Given the description of an element on the screen output the (x, y) to click on. 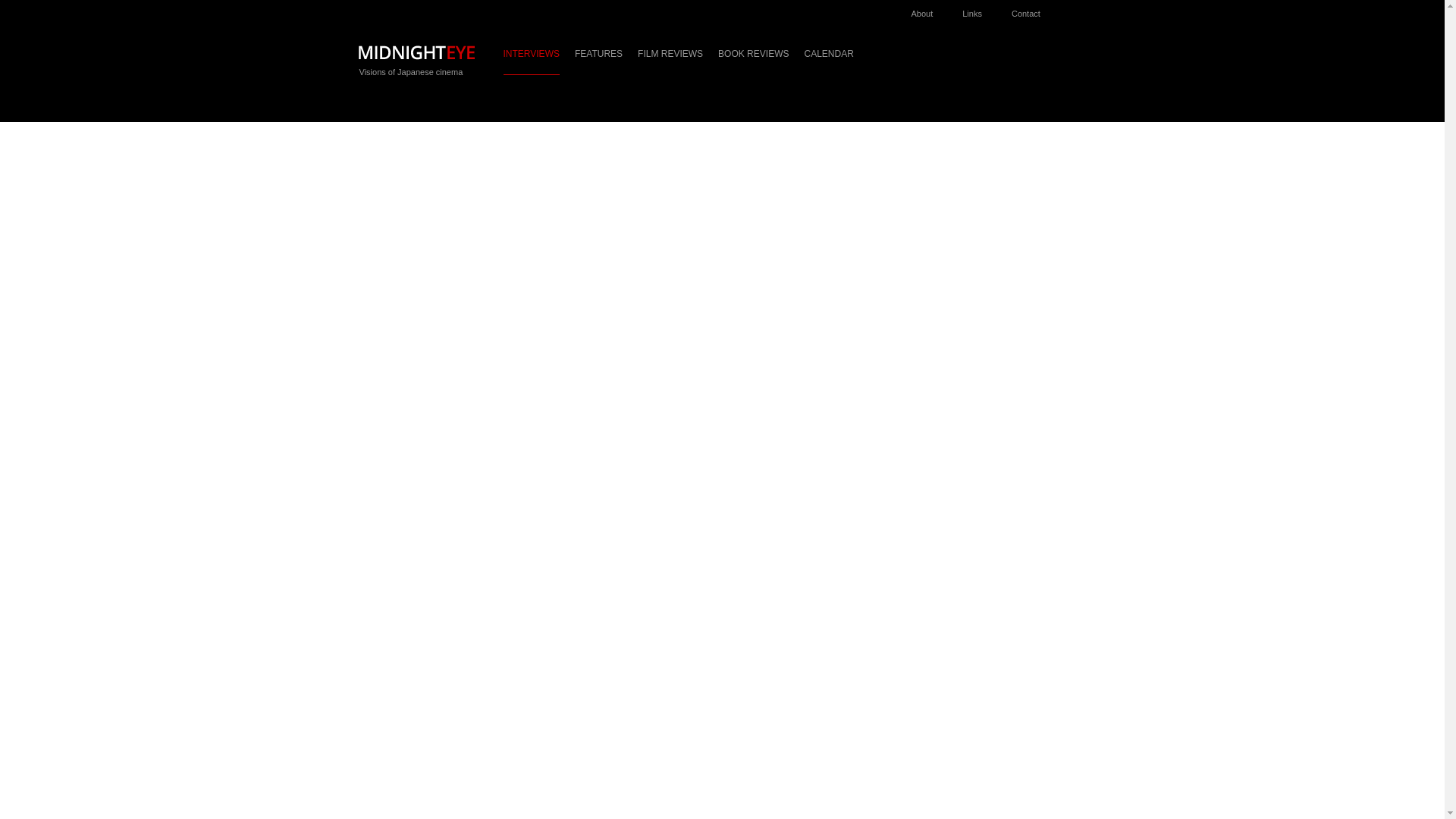
FILM REVIEWS (670, 61)
About (929, 9)
Contact (1033, 9)
Links (979, 9)
Midnight Eye (416, 56)
Book reviews (753, 61)
CALENDAR (828, 61)
About (929, 9)
Film reviews (670, 61)
BOOK REVIEWS (753, 61)
